Given the description of an element on the screen output the (x, y) to click on. 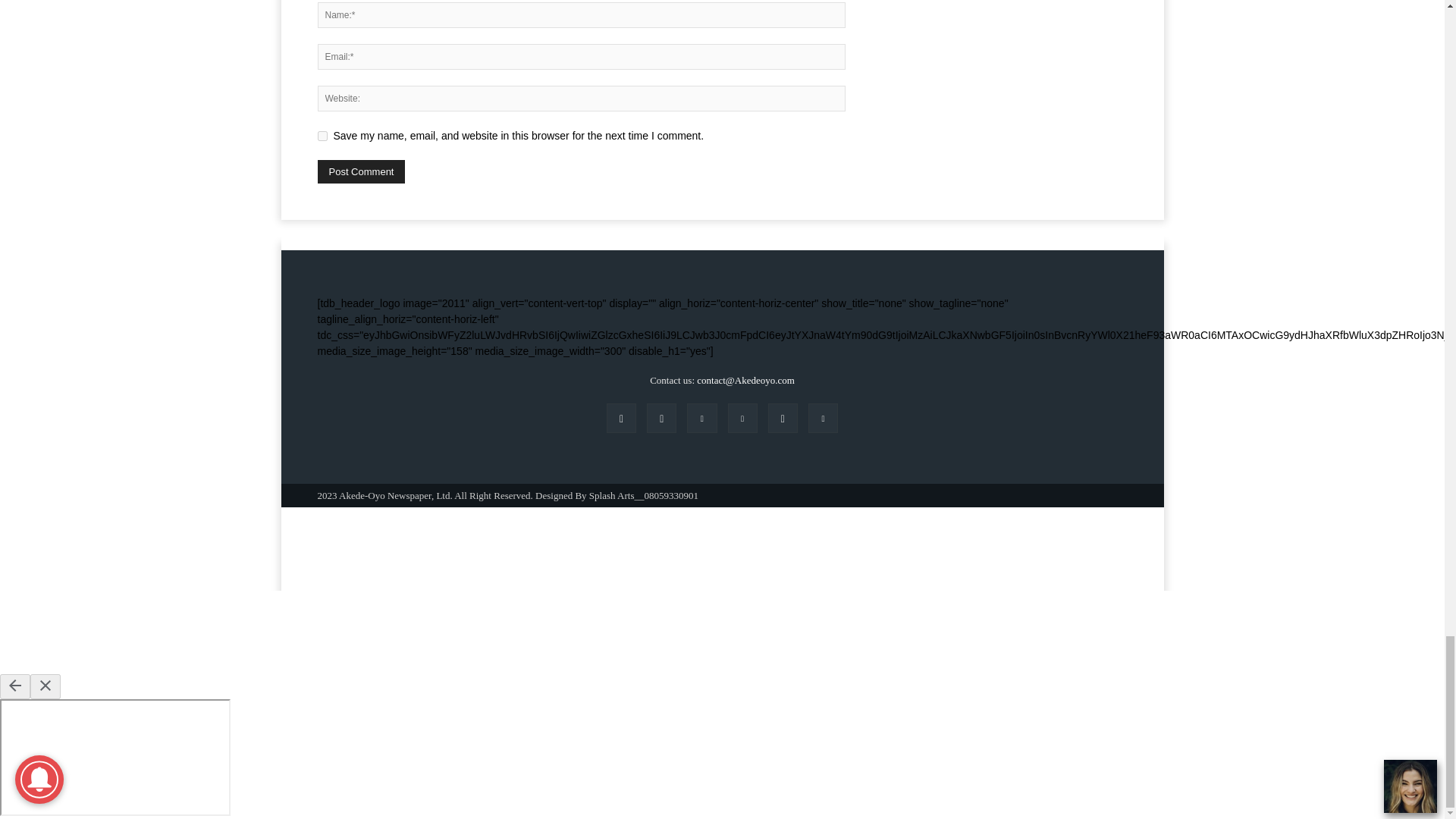
yes (321, 135)
Post Comment (360, 171)
